Given the description of an element on the screen output the (x, y) to click on. 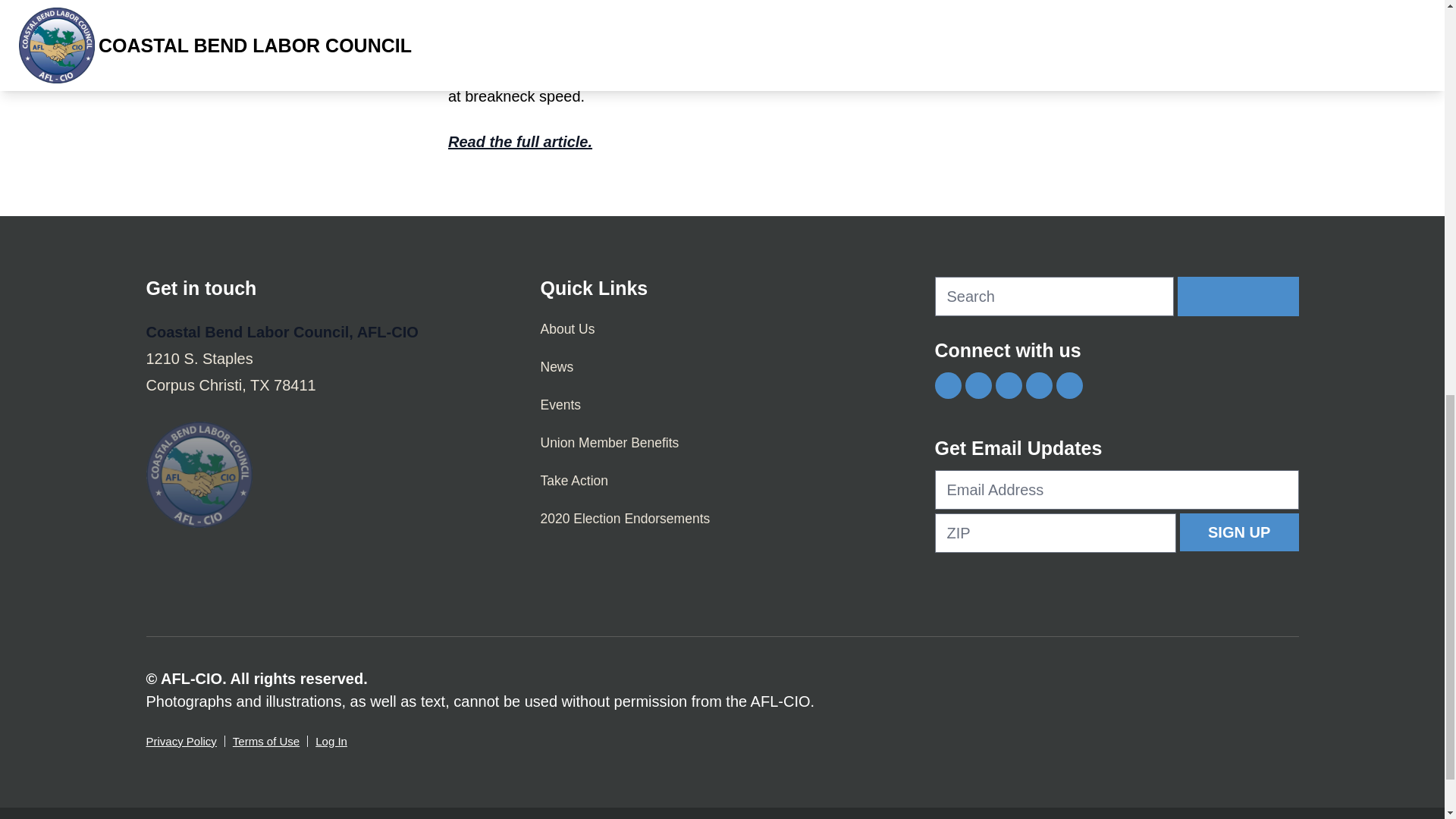
SIGN UP (1238, 531)
SEARCH (1237, 296)
Flickr (1068, 385)
News (722, 366)
Instagram (1008, 385)
About Us (722, 329)
Facebook (947, 385)
2020 Election Endorsements (722, 518)
Twitter (977, 385)
Youtube (1038, 385)
